Given the description of an element on the screen output the (x, y) to click on. 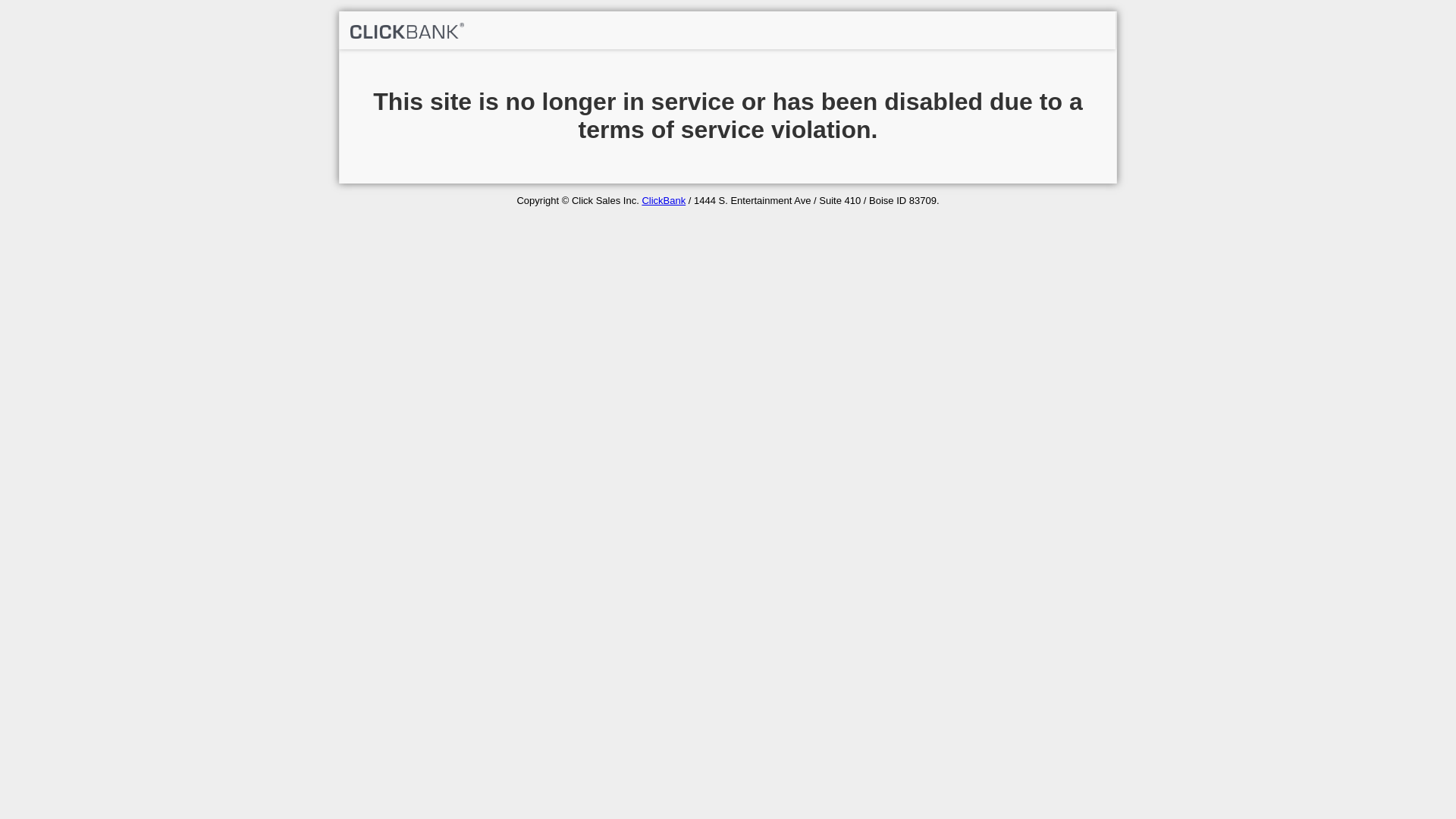
ClickBank Element type: text (663, 200)
